Given the description of an element on the screen output the (x, y) to click on. 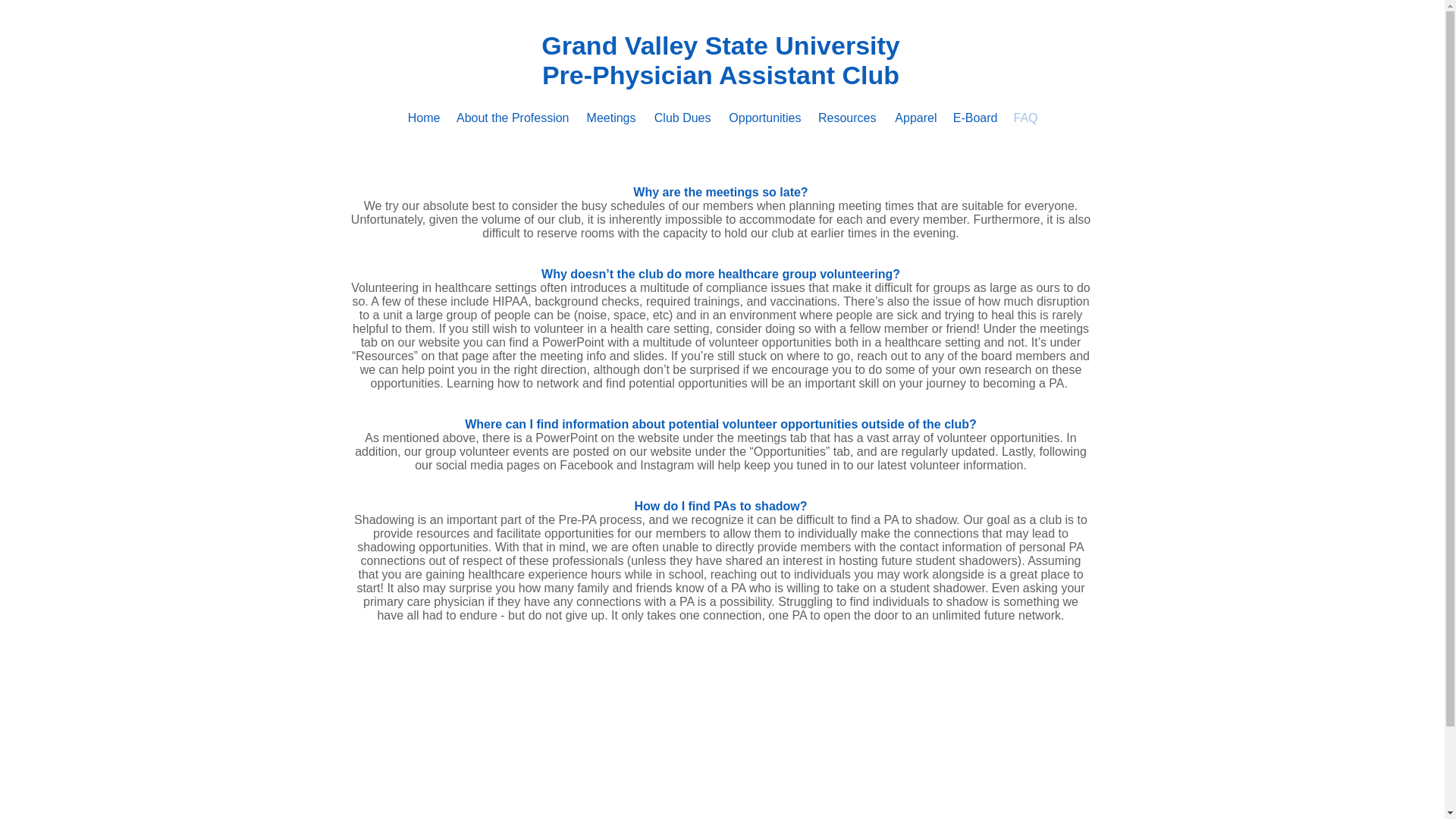
Resources (845, 117)
Pre-Physician Assistant Club (720, 74)
Home (423, 117)
Club Dues (680, 117)
Apparel (913, 117)
FAQ (1025, 117)
E-Board (975, 117)
Meetings (609, 117)
About the Profession (511, 117)
Opportunities (764, 117)
